Given the description of an element on the screen output the (x, y) to click on. 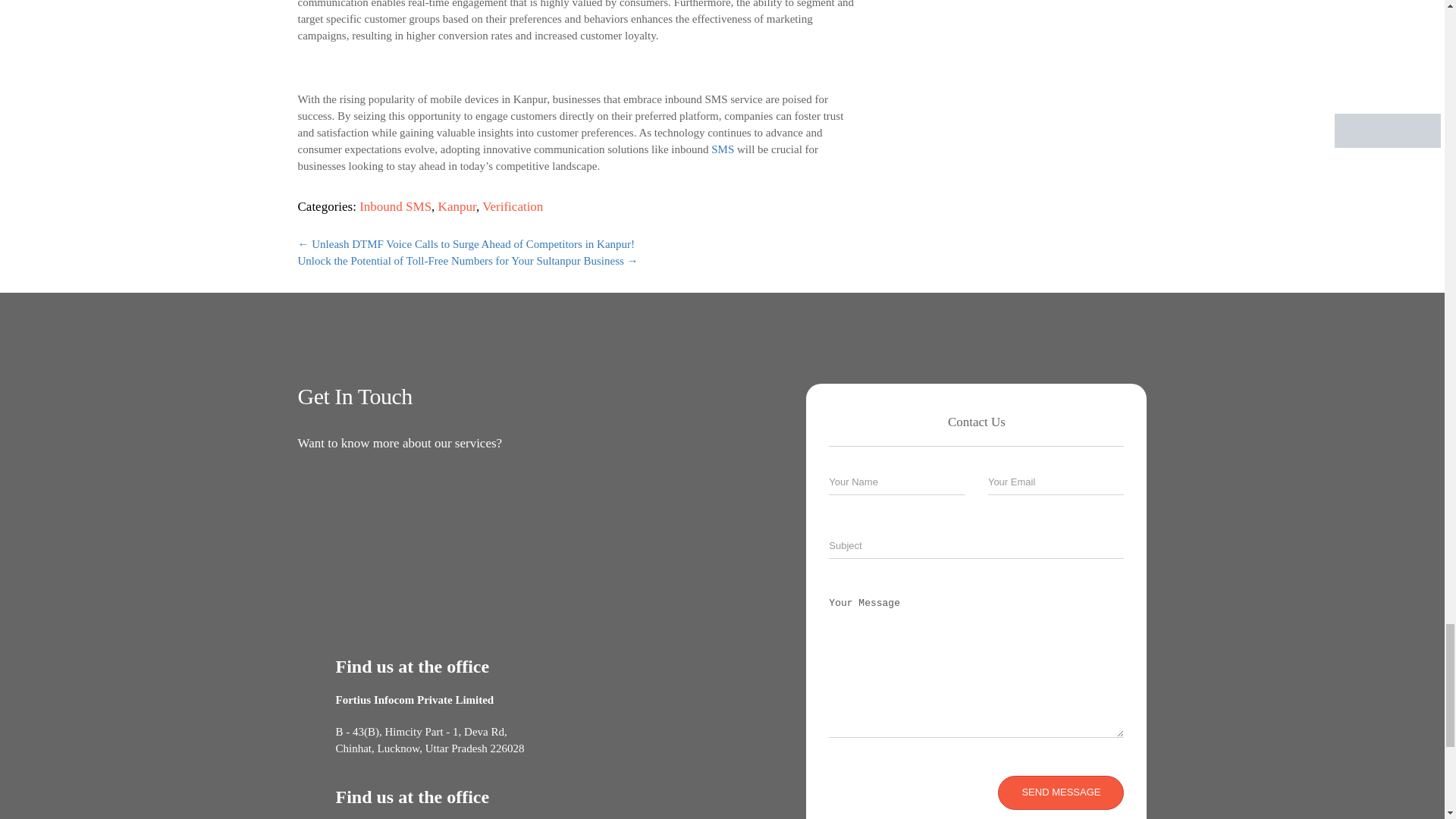
Send Message (1060, 792)
